Given the description of an element on the screen output the (x, y) to click on. 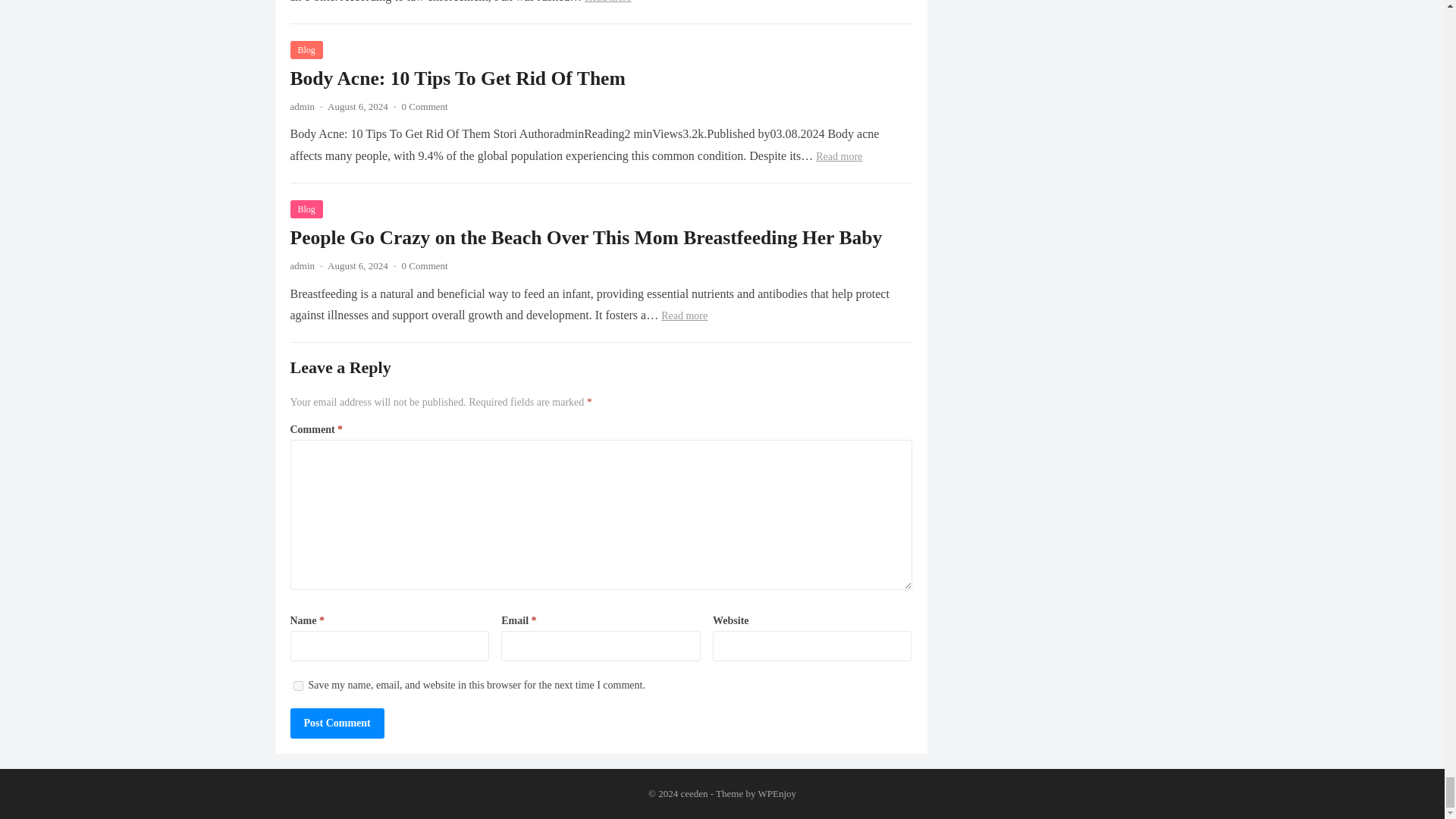
admin (301, 106)
admin (301, 265)
Posts by admin (301, 265)
Posts by admin (301, 106)
Read more (838, 156)
Blog (305, 208)
0 Comment (424, 106)
Blog (305, 49)
Post Comment (336, 723)
Read more (607, 1)
yes (297, 685)
Body Acne: 10 Tips To Get Rid Of Them (456, 78)
0 Comment (424, 265)
